Given the description of an element on the screen output the (x, y) to click on. 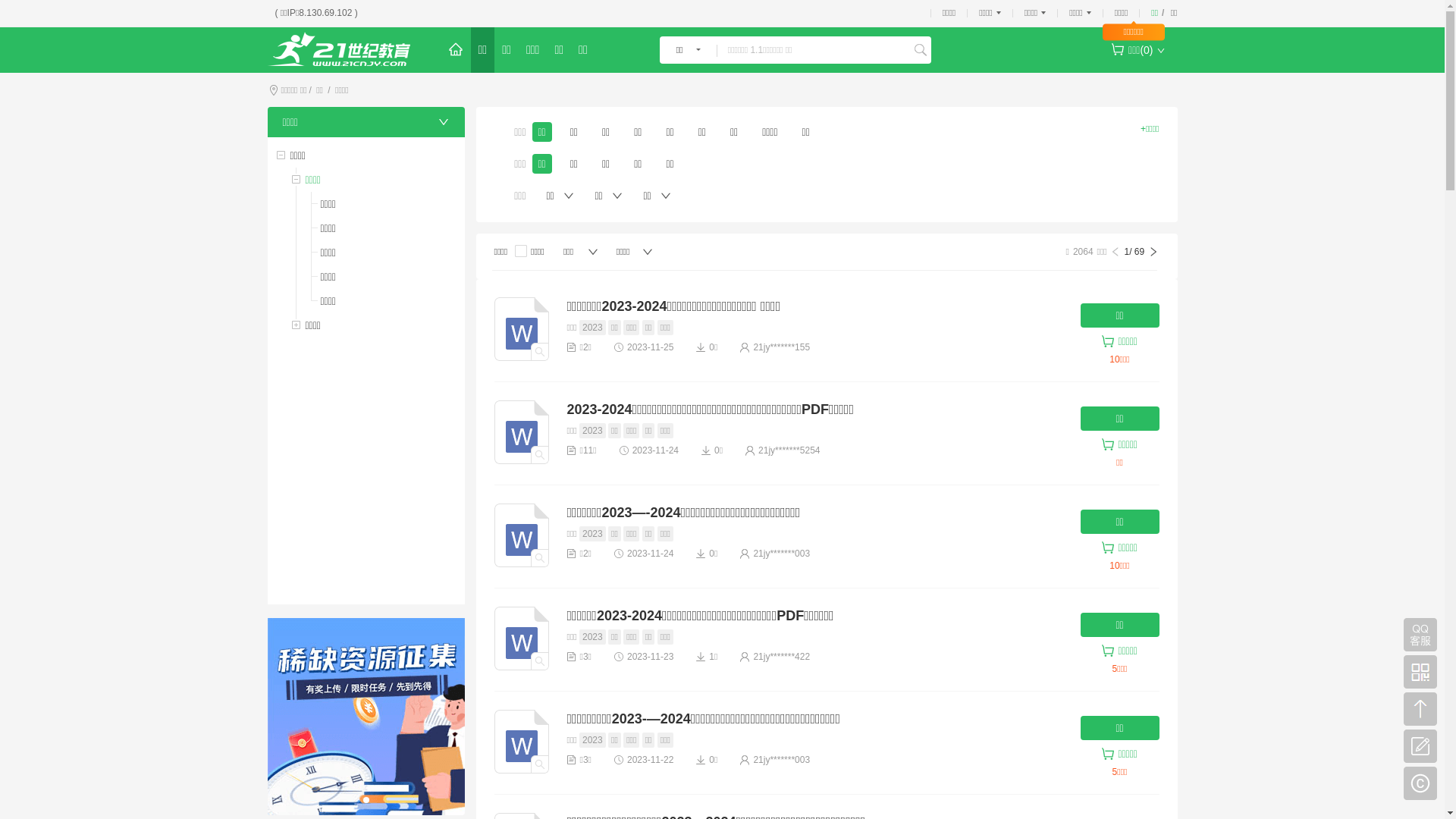
21jy*******5254 Element type: text (788, 450)
1 Element type: text (365, 800)
21jy*******003 Element type: text (781, 759)
21jy*******422 Element type: text (781, 656)
21jy*******155 Element type: text (781, 347)
21jy*******003 Element type: text (781, 553)
